Given the description of an element on the screen output the (x, y) to click on. 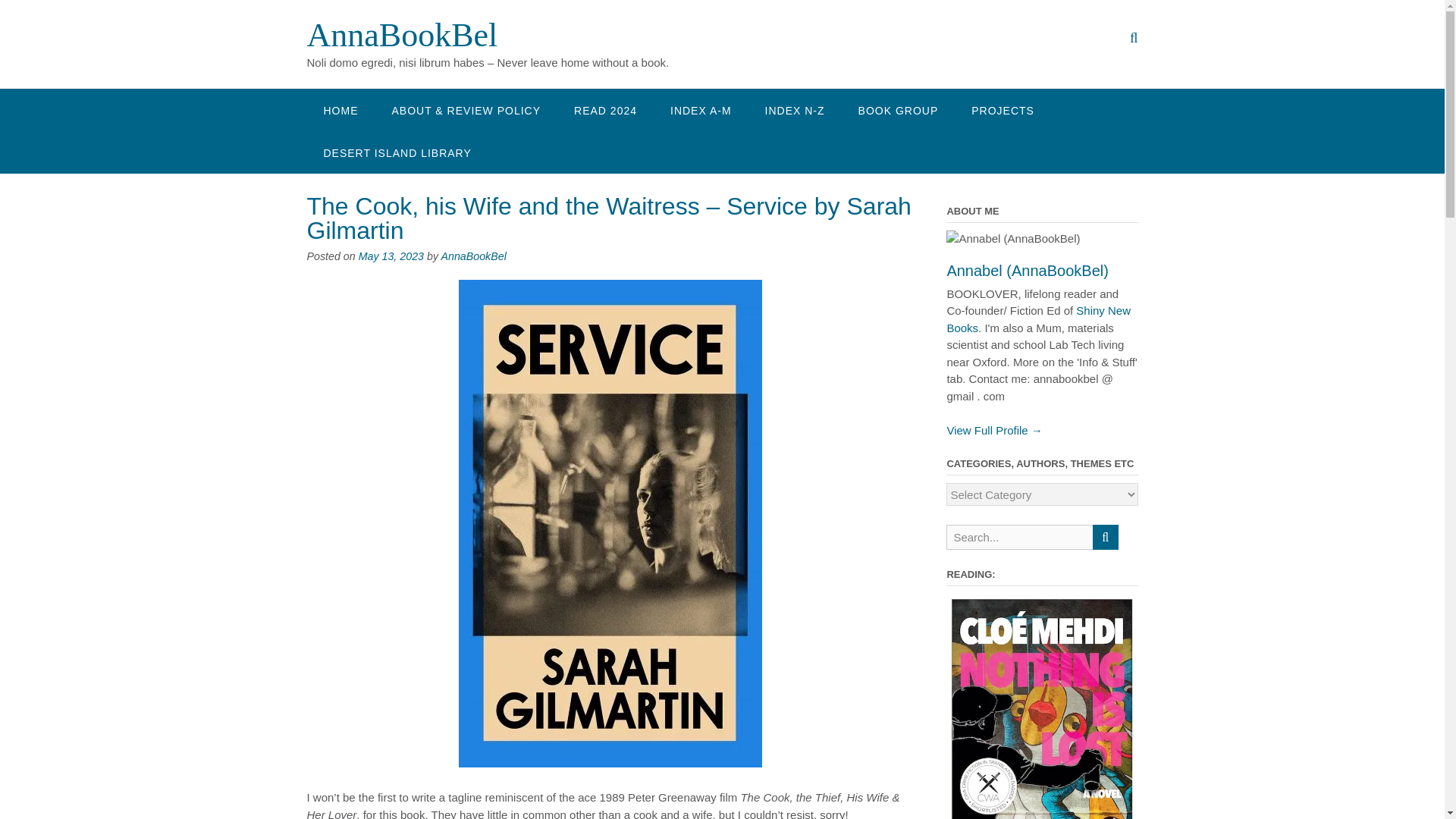
AnnaBookBel (401, 35)
AnnaBookBel (473, 256)
INDEX A-M (700, 109)
HOME (339, 109)
BOOK GROUP (898, 109)
AnnaBookBel (401, 35)
READ 2024 (605, 109)
May 13, 2023 (390, 256)
DESERT ISLAND LIBRARY (396, 152)
INDEX N-Z (794, 109)
